Given the description of an element on the screen output the (x, y) to click on. 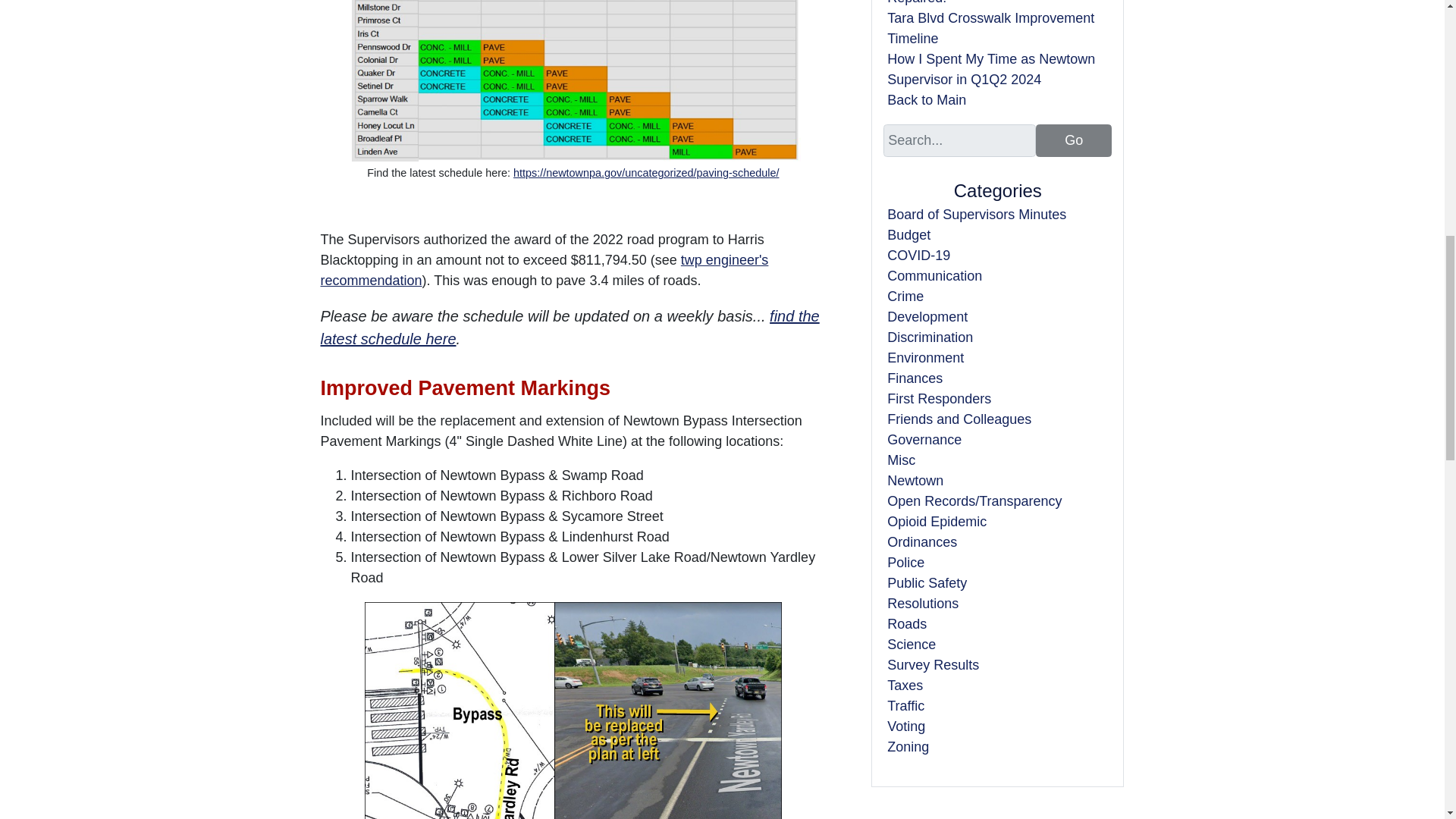
twp engineer's recommendation (544, 270)
Go (1073, 140)
find the latest schedule here (569, 327)
